Given the description of an element on the screen output the (x, y) to click on. 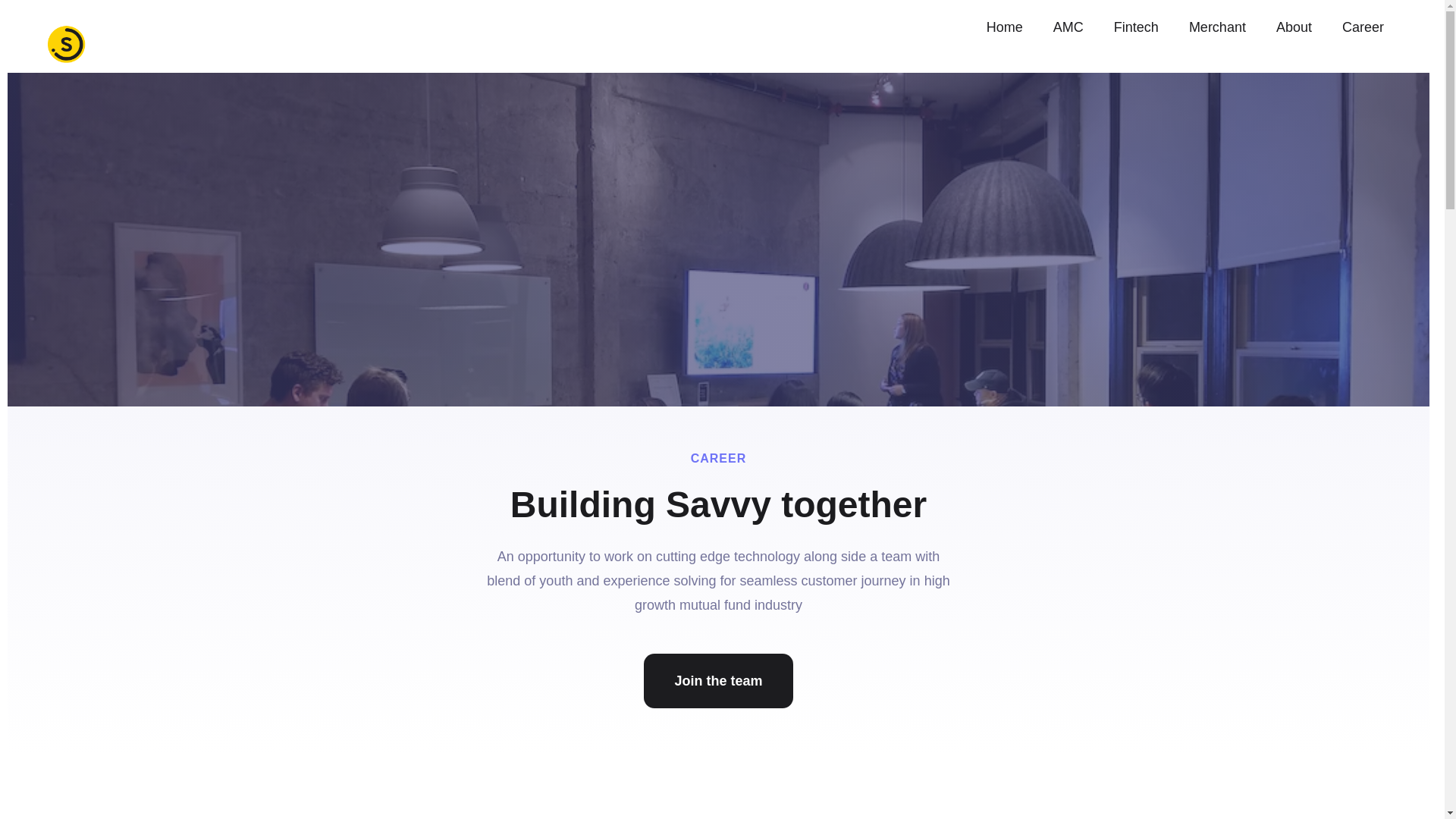
AMC (1068, 27)
About (1293, 27)
Career (1362, 27)
Merchant (1216, 27)
Home (1004, 27)
Fintech (1136, 27)
Join the team (717, 680)
